Given the description of an element on the screen output the (x, y) to click on. 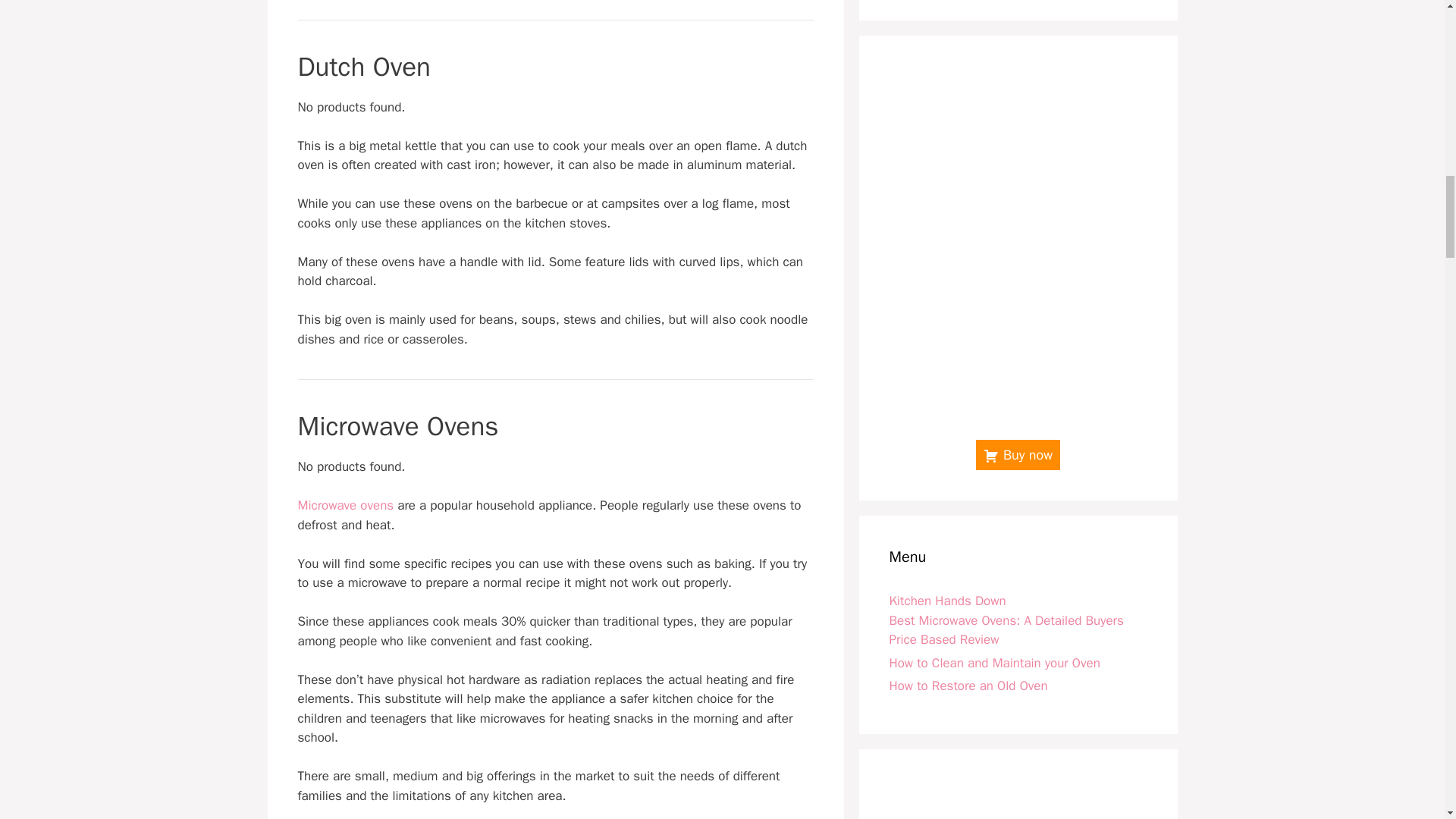
Kitchen Hands Down (947, 600)
Buy now (1017, 454)
Microwave ovens (345, 505)
